Given the description of an element on the screen output the (x, y) to click on. 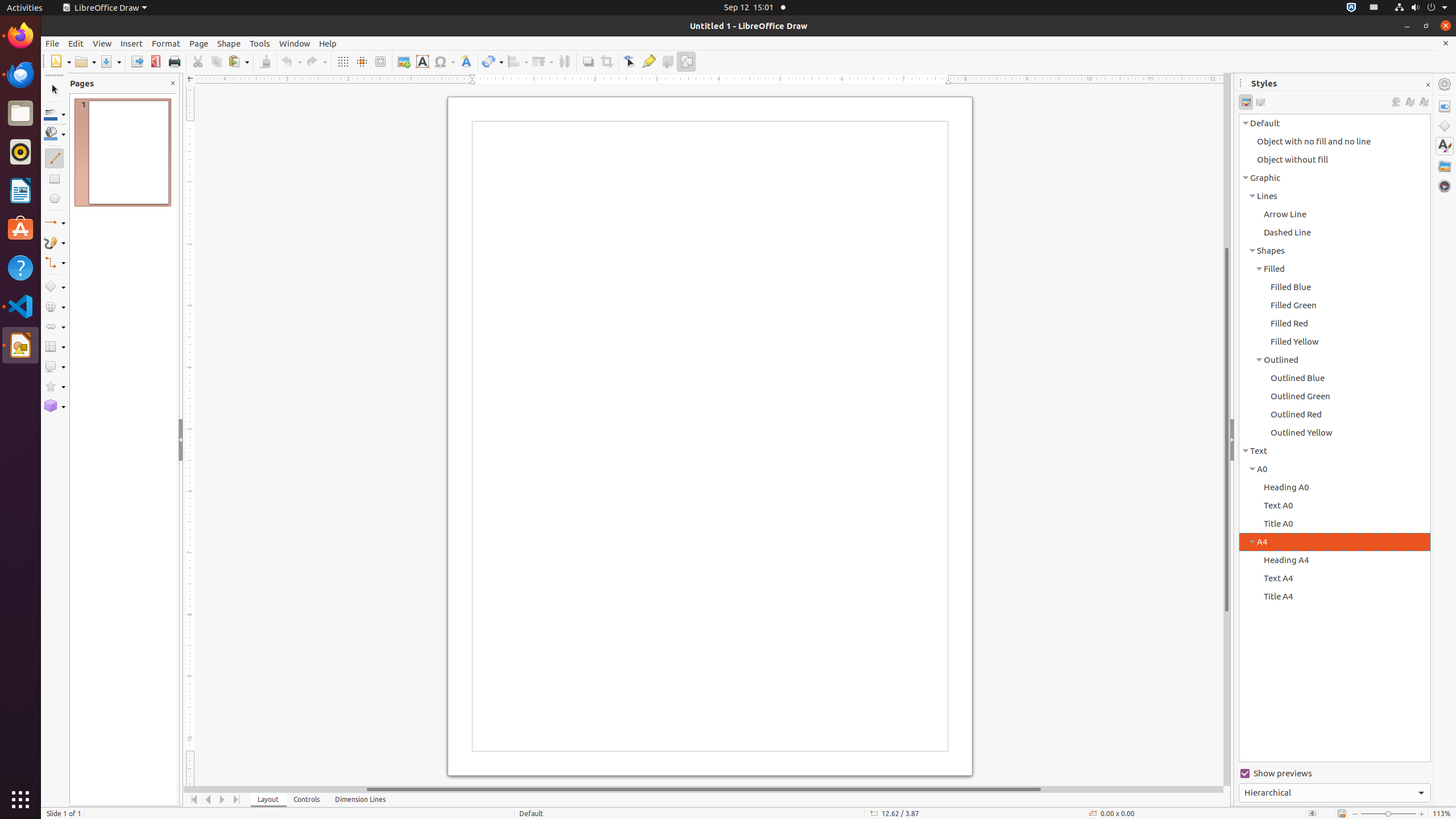
Toggle Extrusion Element type: push-button (667, 61)
Navigator Element type: radio-button (1444, 185)
Vertical Ruler Element type: ruler (190, 436)
Print Element type: push-button (173, 61)
Zoom & Pan Element type: push-button (379, 61)
